Given the description of an element on the screen output the (x, y) to click on. 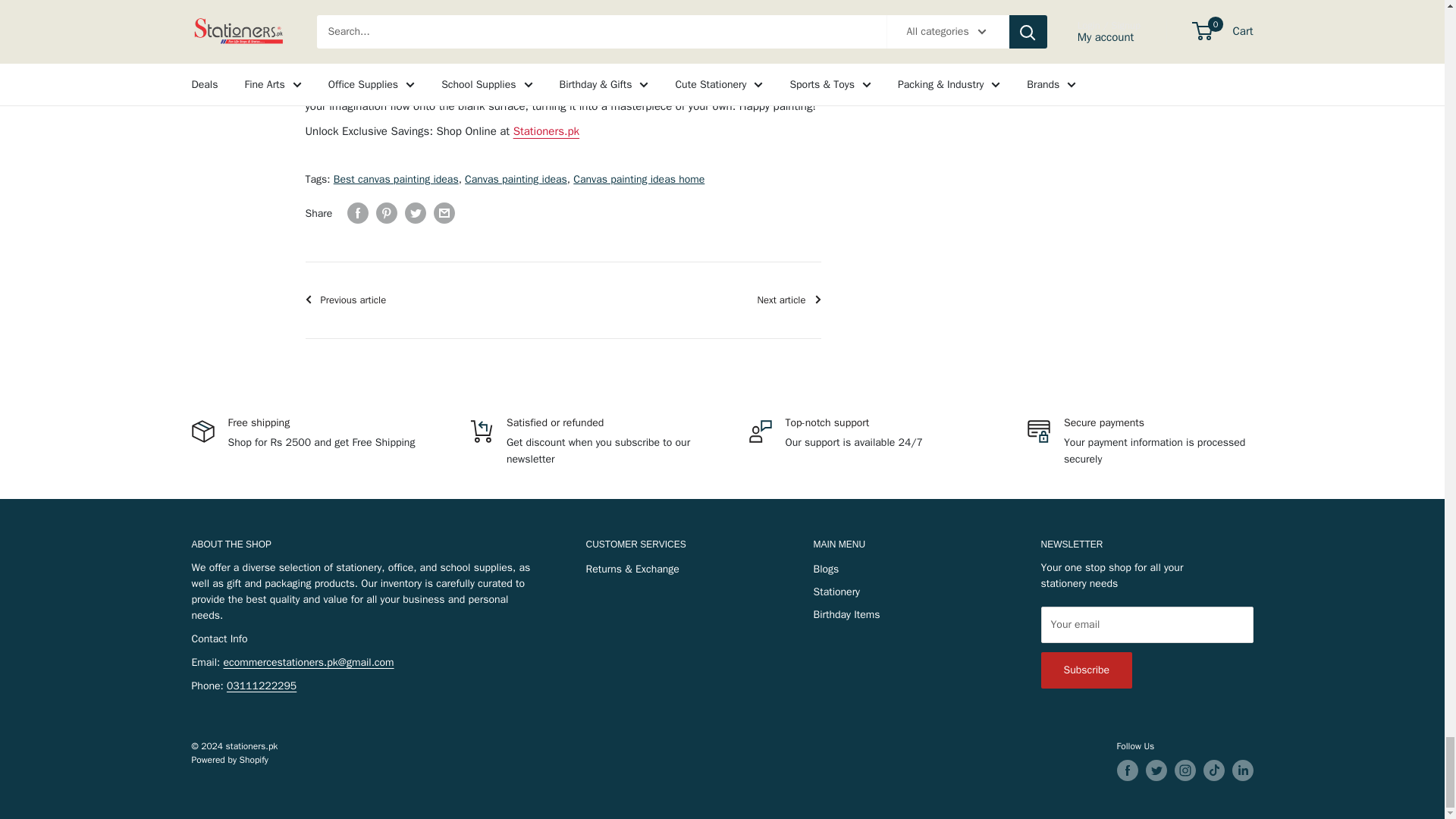
tel:03111222295 (262, 685)
